Given the description of an element on the screen output the (x, y) to click on. 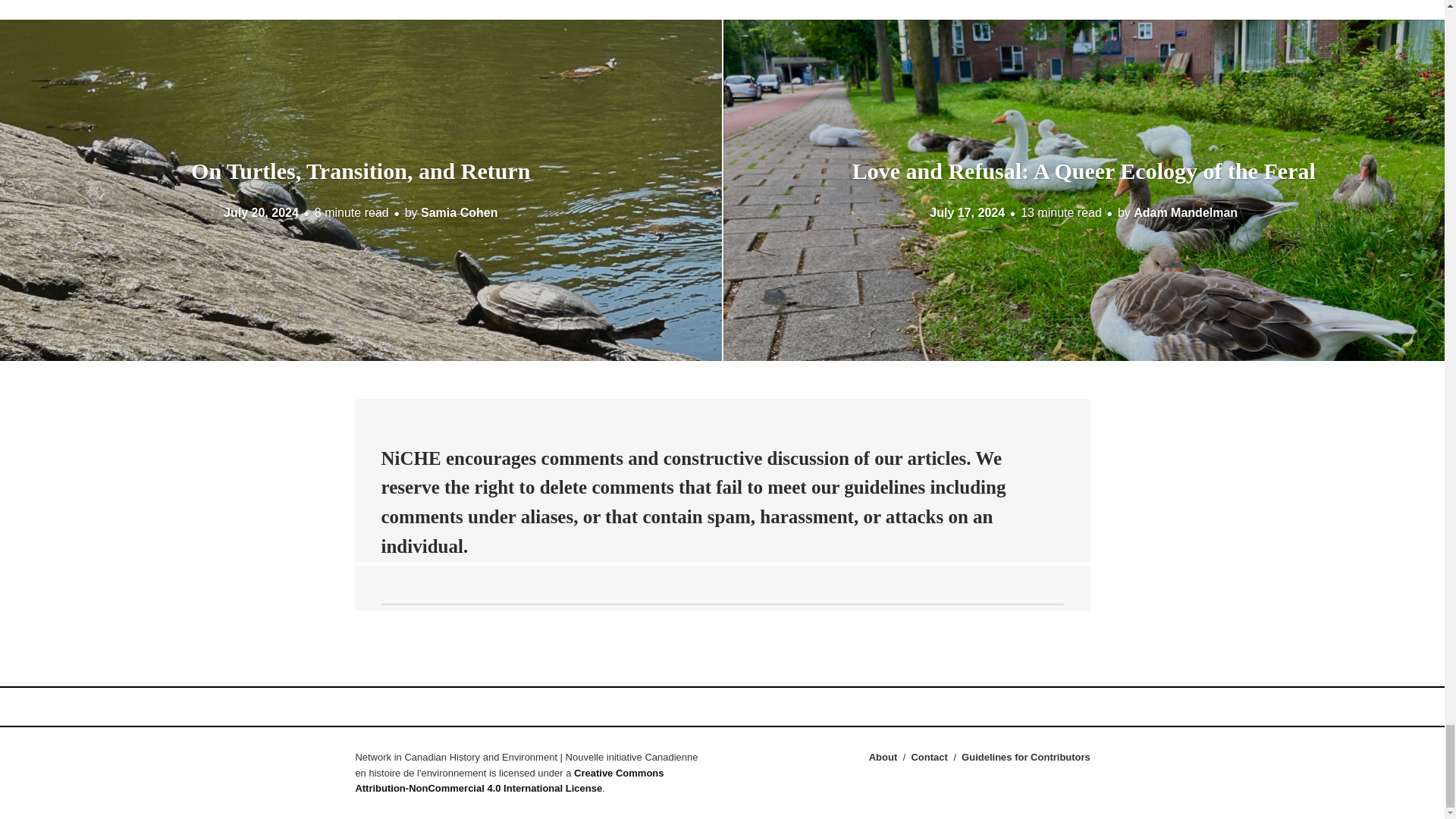
10:51 am (967, 212)
9:00 am (261, 212)
